Given the description of an element on the screen output the (x, y) to click on. 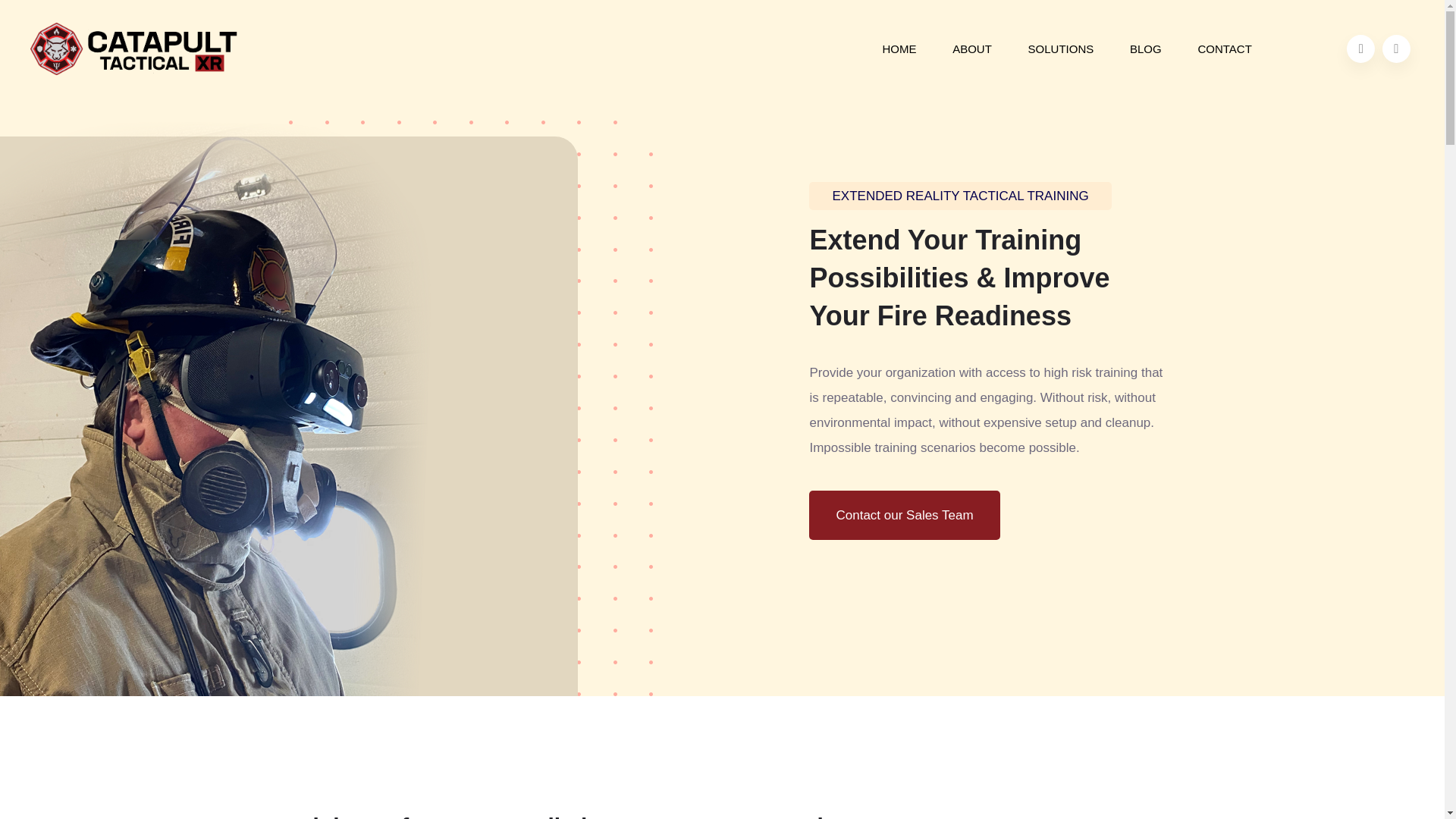
CONTACT (1223, 49)
Contact our Sales Team (903, 514)
SOLUTIONS (1060, 49)
